Given the description of an element on the screen output the (x, y) to click on. 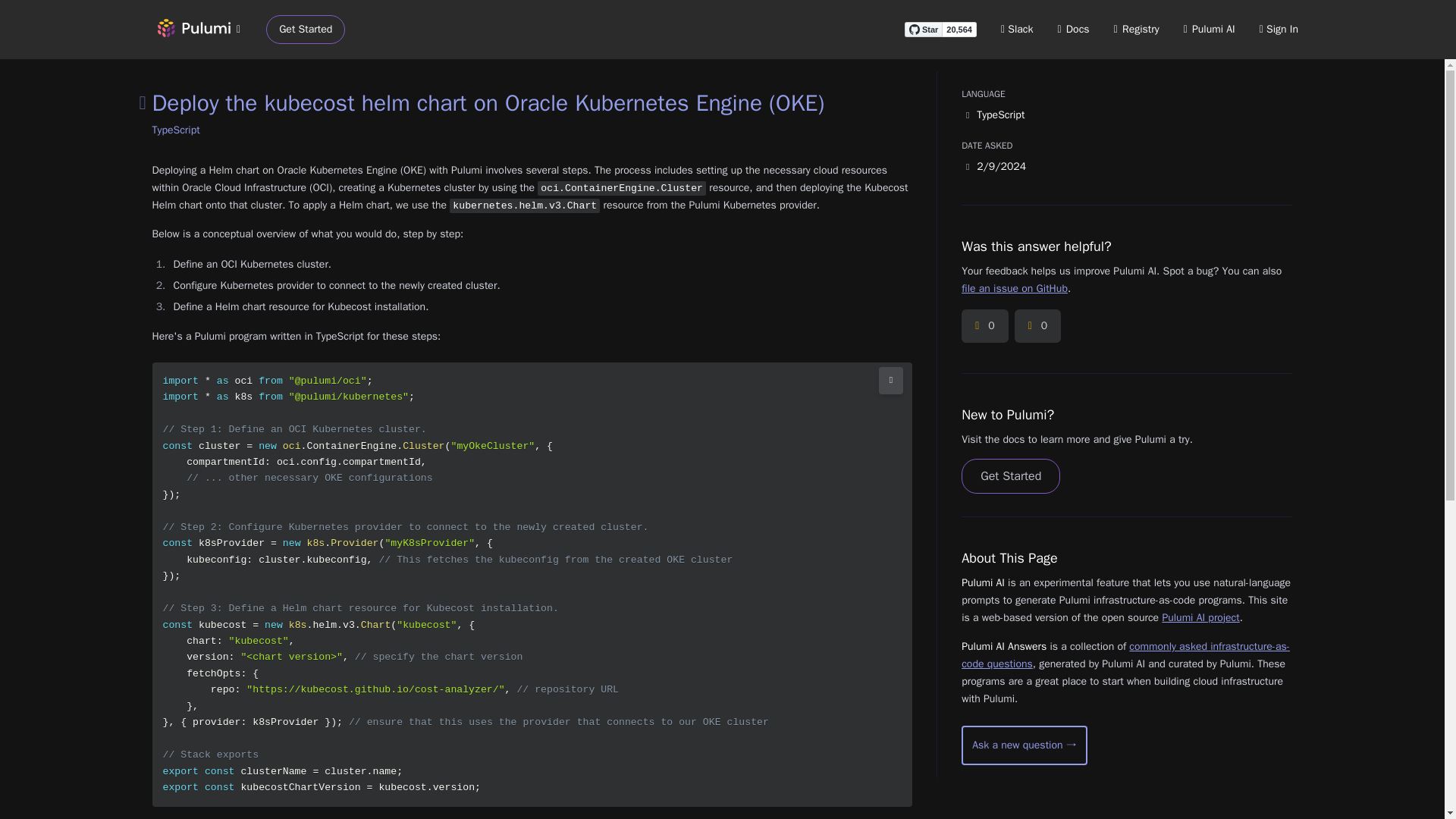
Slack (1017, 29)
Start a new conversation with Pulumi AI (1023, 744)
0 (984, 326)
0 (1037, 326)
Get Started (305, 29)
Upvote this answer (984, 326)
 Star (923, 29)
20,564 (959, 29)
Registry (1135, 29)
Downvote this answer (1037, 326)
Docs (1073, 29)
Pulumi AI (1208, 29)
Sign In (1278, 29)
file an issue on GitHub (1013, 287)
